Given the description of an element on the screen output the (x, y) to click on. 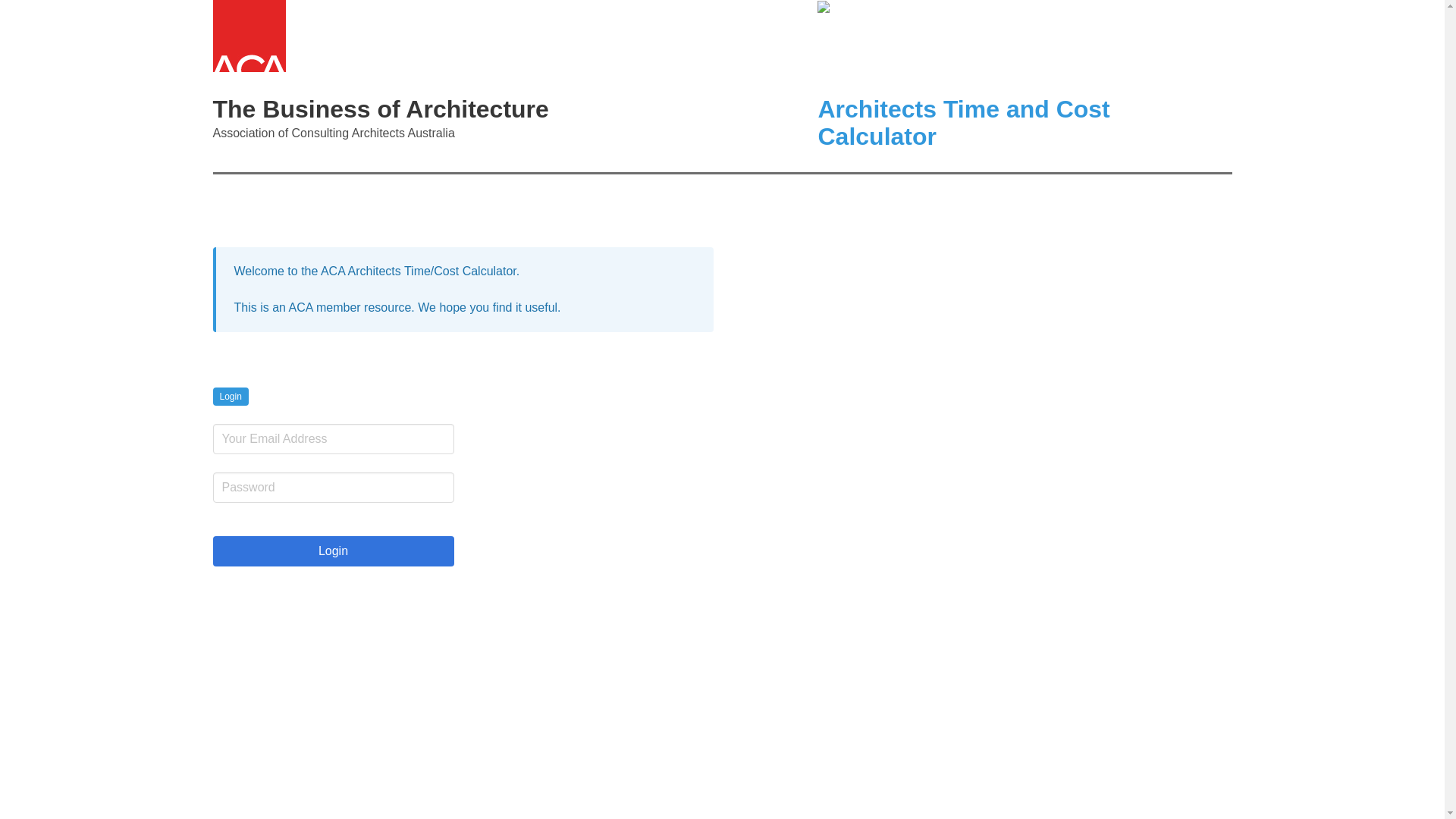
Login Element type: text (332, 551)
